Given the description of an element on the screen output the (x, y) to click on. 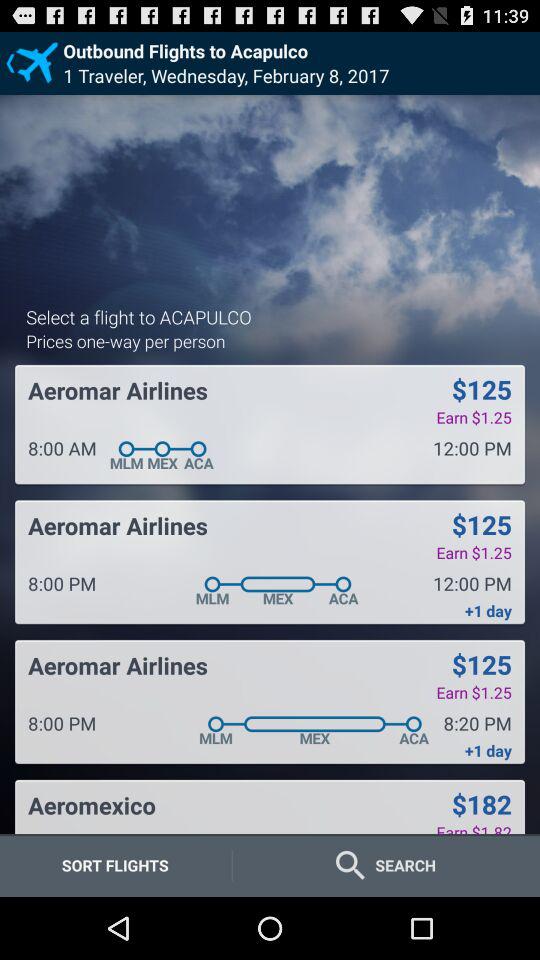
scroll until the $182 (481, 803)
